Given the description of an element on the screen output the (x, y) to click on. 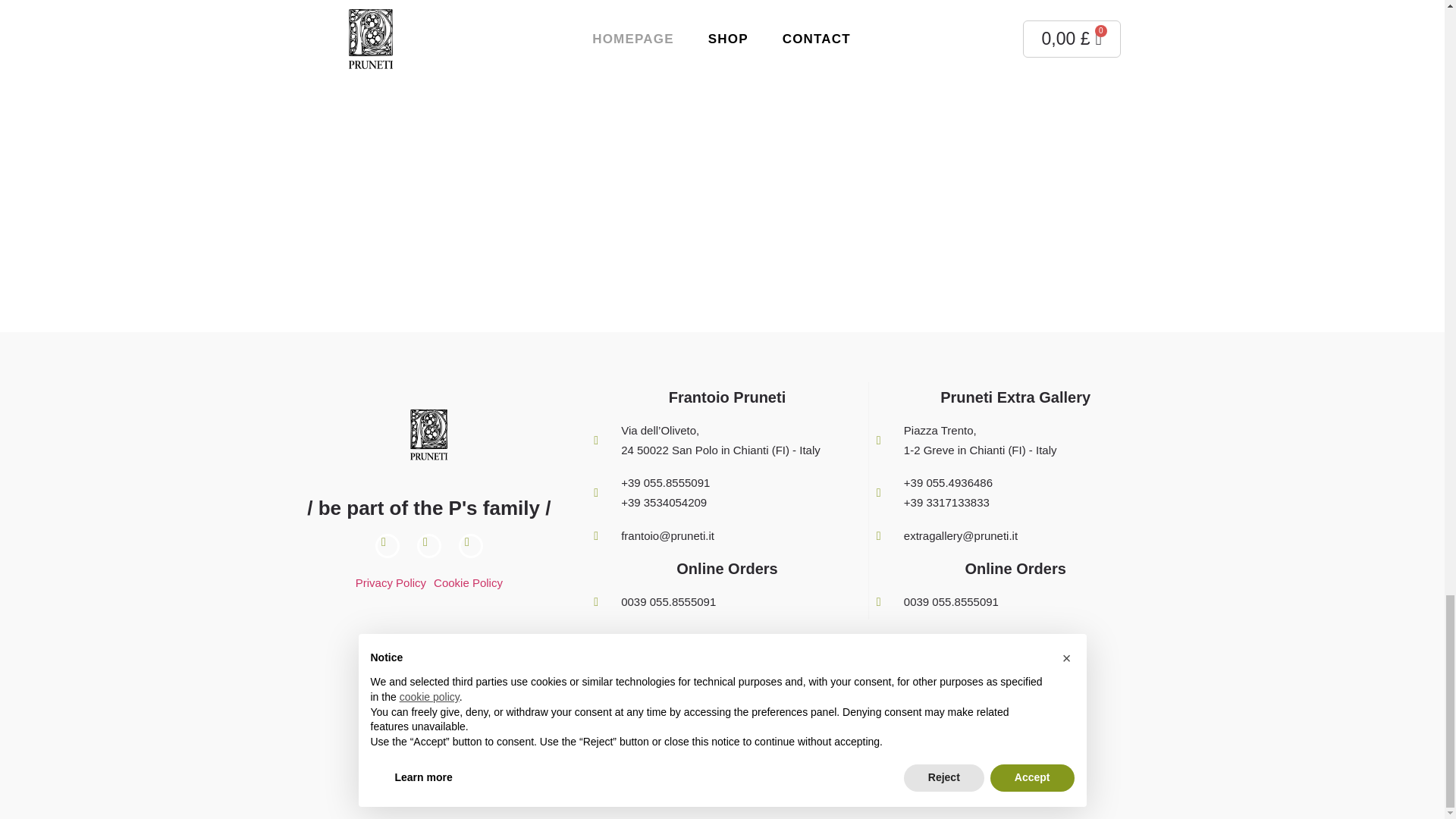
Cookie Policy  (467, 582)
Privacy Policy  (390, 582)
